Given the description of an element on the screen output the (x, y) to click on. 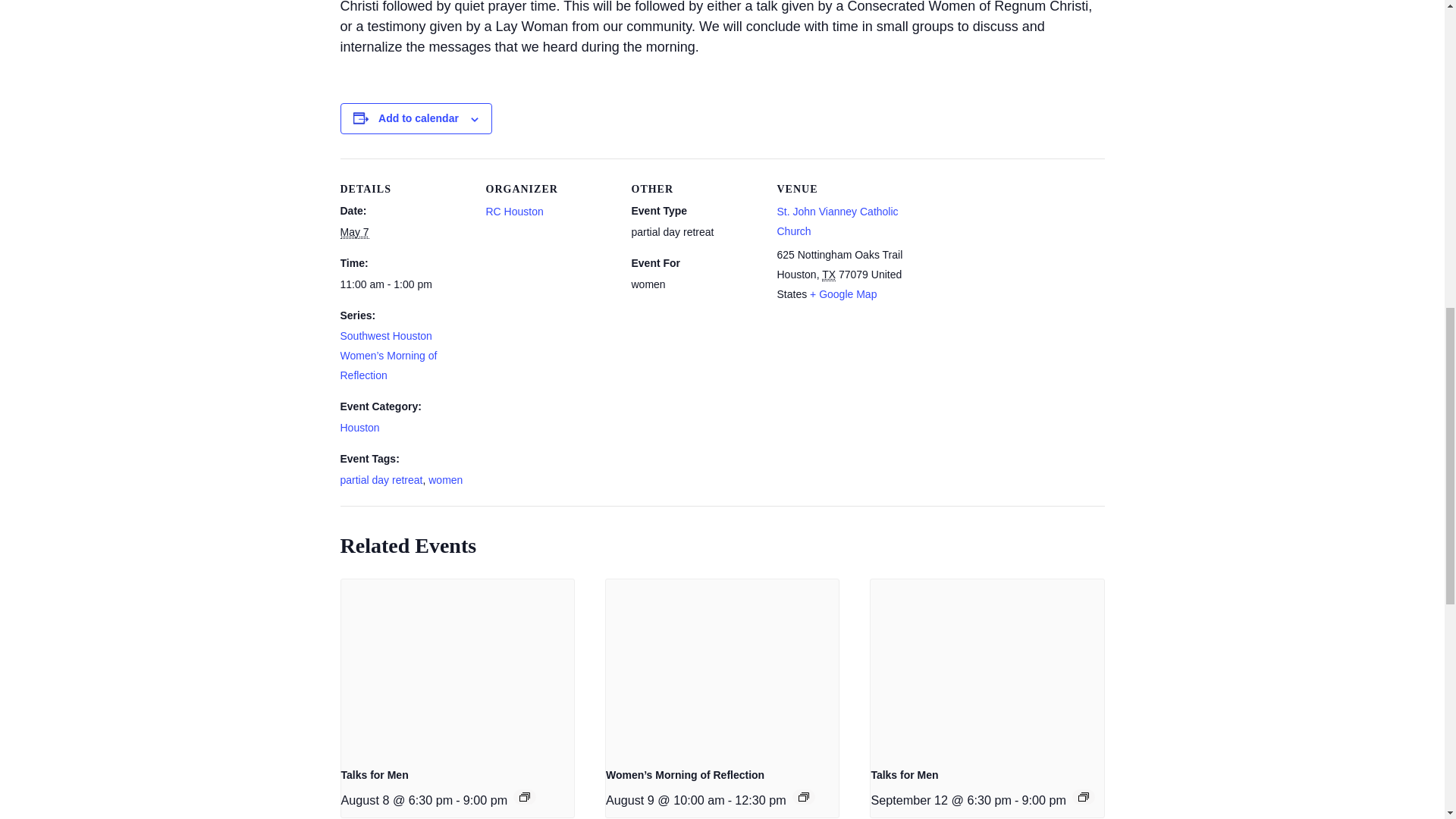
2024-05-07 (403, 284)
2024-05-07 (353, 232)
RC Houston (513, 211)
Texas (828, 274)
